Given the description of an element on the screen output the (x, y) to click on. 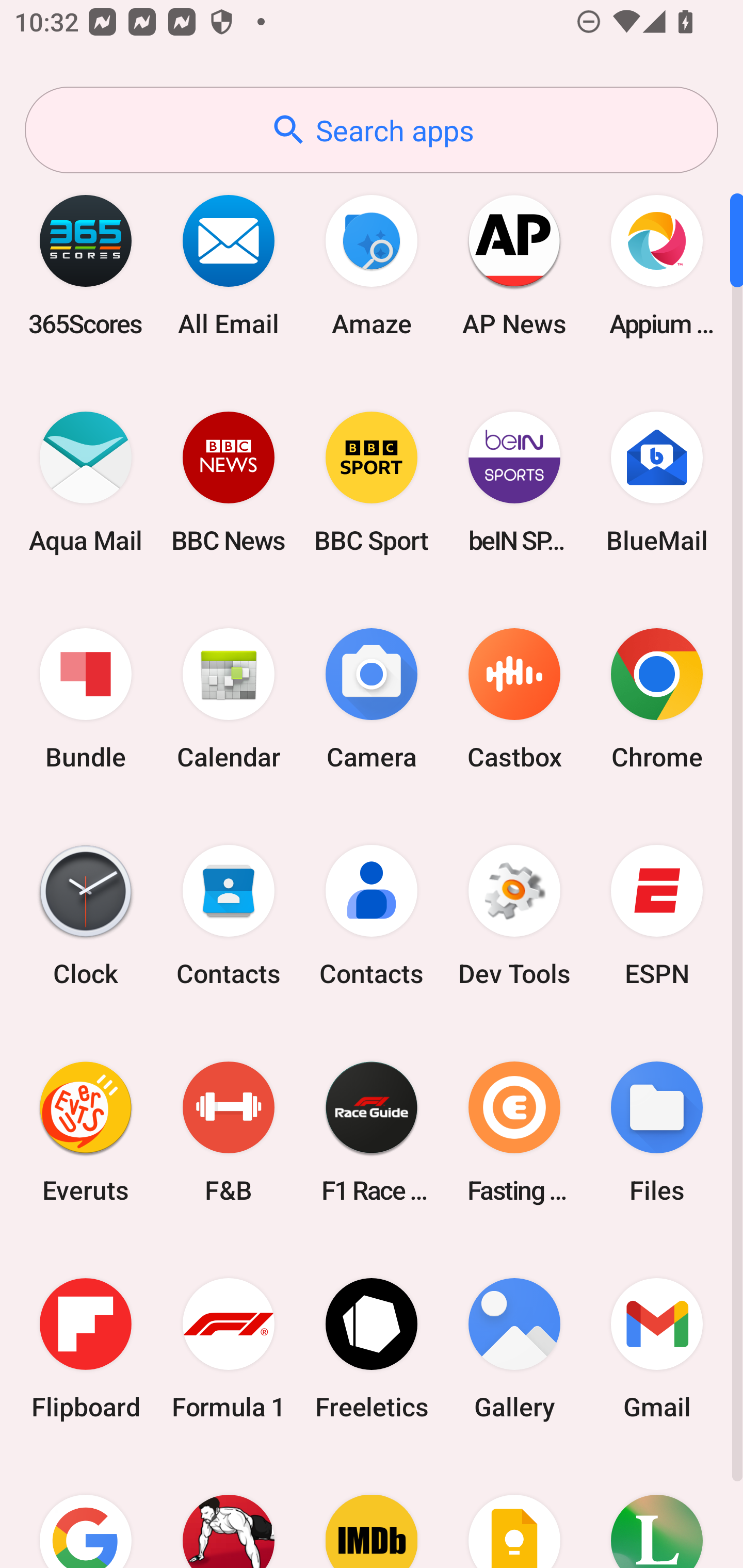
  Search apps (371, 130)
365Scores (85, 264)
All Email (228, 264)
Amaze (371, 264)
AP News (514, 264)
Appium Settings (656, 264)
Aqua Mail (85, 482)
BBC News (228, 482)
BBC Sport (371, 482)
beIN SPORTS (514, 482)
BlueMail (656, 482)
Bundle (85, 699)
Calendar (228, 699)
Camera (371, 699)
Castbox (514, 699)
Chrome (656, 699)
Clock (85, 915)
Contacts (228, 915)
Contacts (371, 915)
Dev Tools (514, 915)
ESPN (656, 915)
Everuts (85, 1131)
F&B (228, 1131)
F1 Race Guide (371, 1131)
Fasting Coach (514, 1131)
Files (656, 1131)
Flipboard (85, 1348)
Formula 1 (228, 1348)
Freeletics (371, 1348)
Gallery (514, 1348)
Gmail (656, 1348)
Google (85, 1512)
Home Workout (228, 1512)
IMDb (371, 1512)
Keep Notes (514, 1512)
Lifesum (656, 1512)
